Given the description of an element on the screen output the (x, y) to click on. 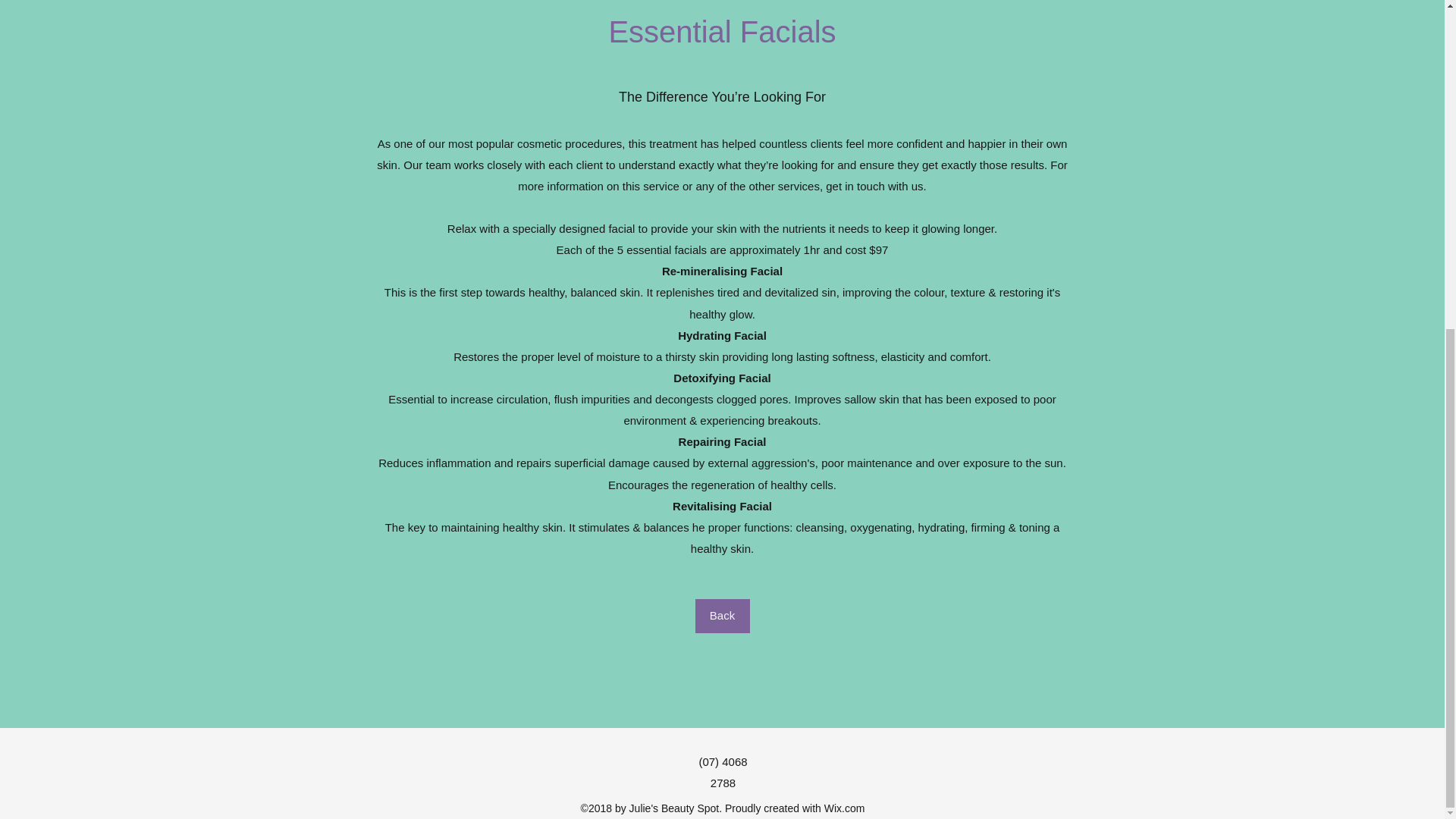
Back (721, 615)
